Given the description of an element on the screen output the (x, y) to click on. 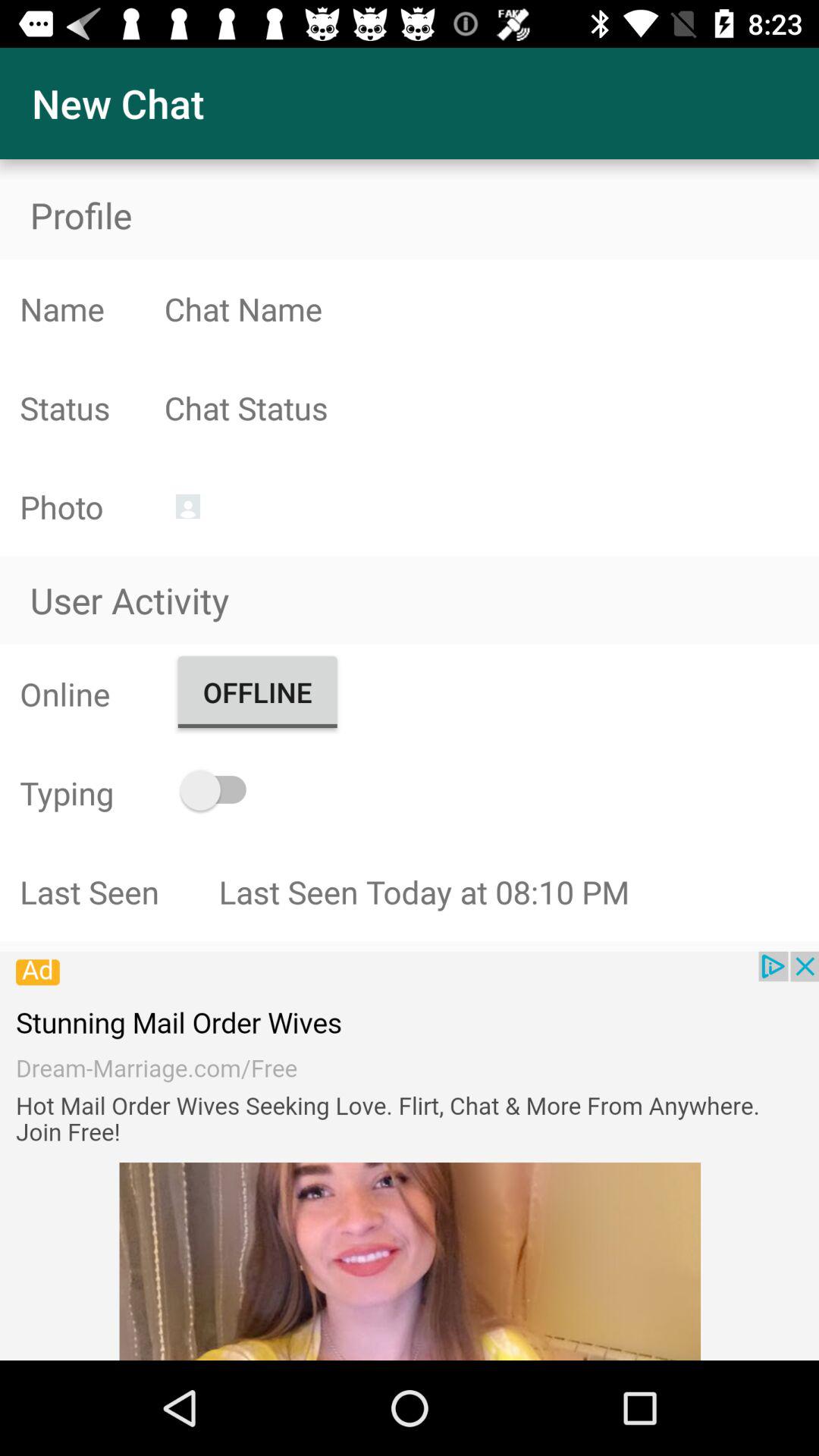
chat status (491, 407)
